Given the description of an element on the screen output the (x, y) to click on. 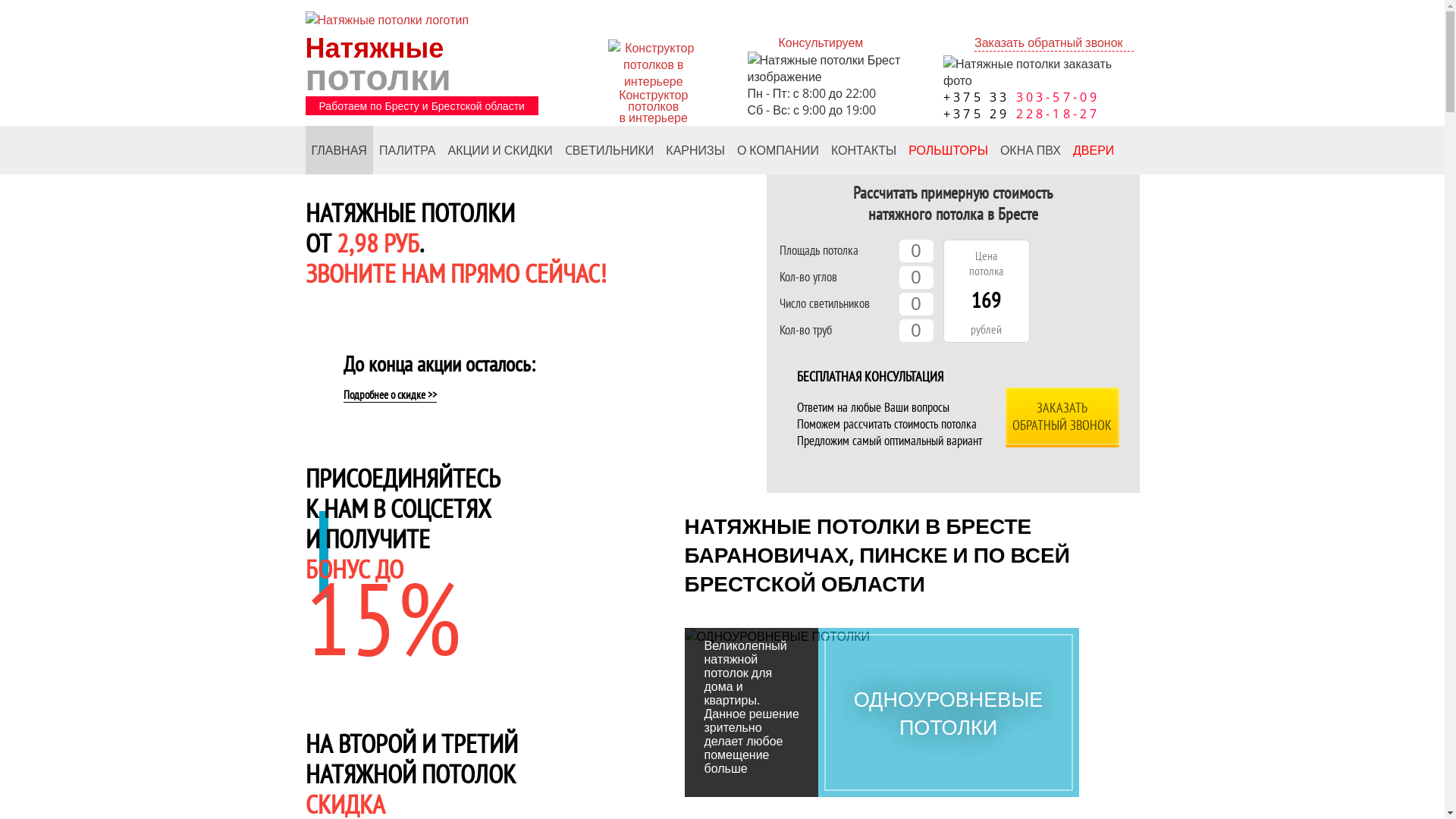
+375 33 303-57-09 Element type: text (1022, 96)
+375 29 228-18-27 Element type: text (1022, 113)
